Given the description of an element on the screen output the (x, y) to click on. 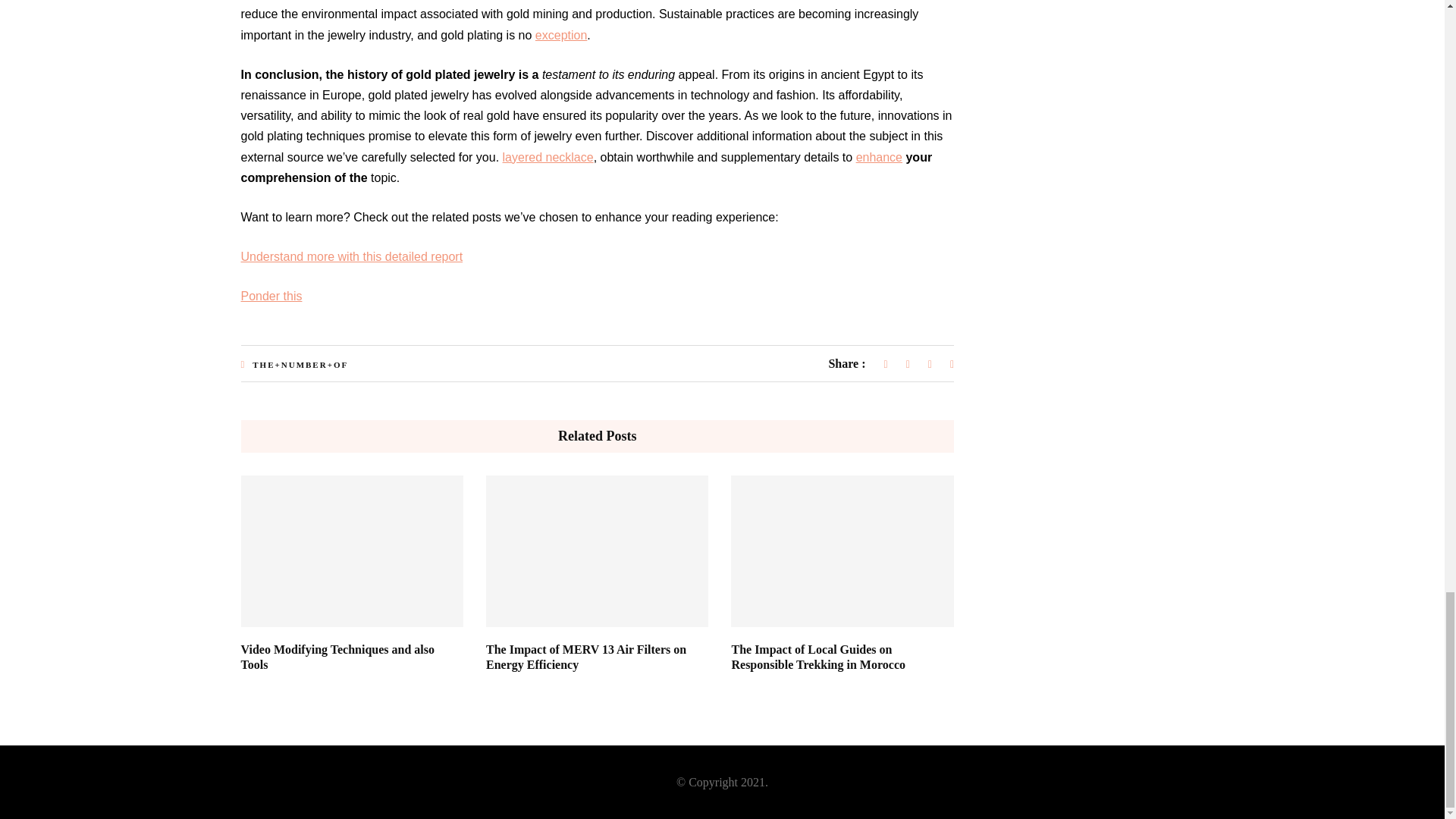
Ponder this (271, 295)
Understand more with this detailed report (352, 256)
enhance (879, 156)
layered necklace (548, 156)
The Impact of MERV 13 Air Filters on Energy Efficiency (585, 656)
exception (561, 34)
Video Modifying Techniques and also Tools (337, 656)
